Given the description of an element on the screen output the (x, y) to click on. 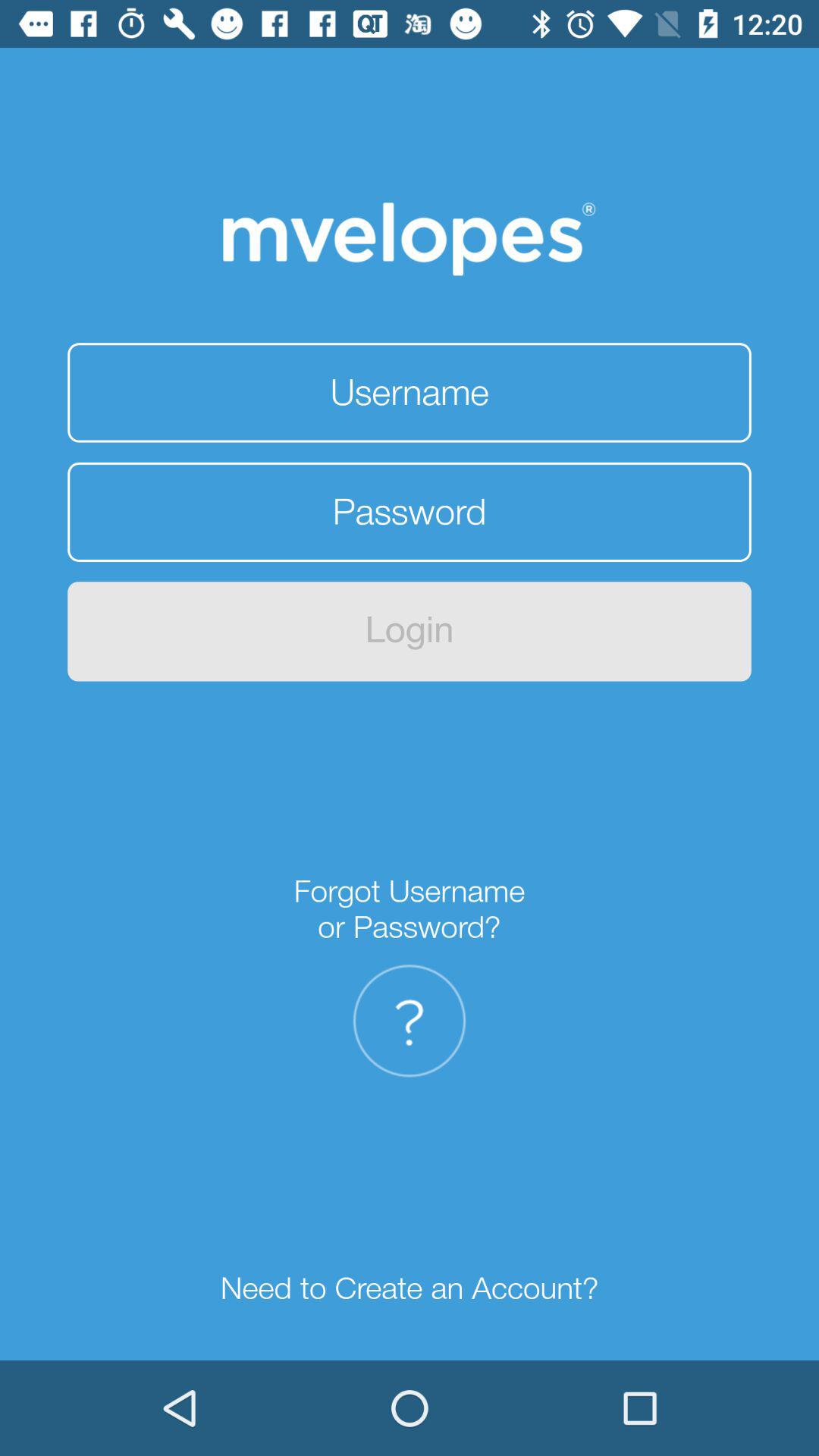
open item below forgot username or item (409, 1020)
